Given the description of an element on the screen output the (x, y) to click on. 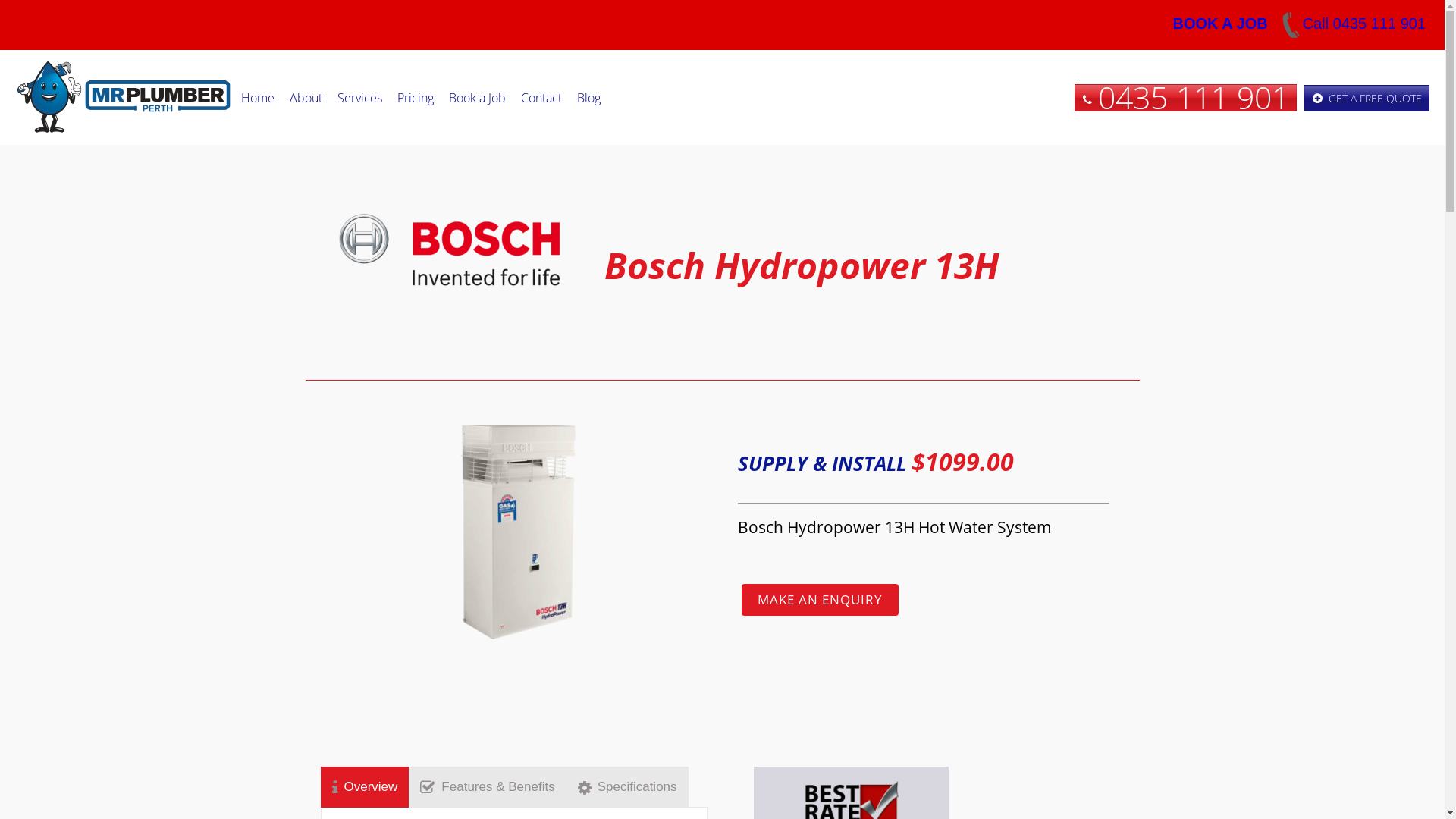
Contact Element type: text (541, 96)
BOOK A JOB Element type: text (1219, 23)
BOSCH-HYDROPOWER-13H EXTERNAL-HOT-WATER-SYSTEM Element type: hover (516, 531)
Specifications Element type: text (627, 786)
GET A FREE QUOTE Element type: text (1366, 97)
Services Element type: text (359, 96)
MAKE AN ENQUIRY Element type: text (819, 599)
Overview Element type: text (364, 786)
Features & Benefits Element type: text (486, 786)
Pricing Element type: text (415, 96)
0435 111 901 Element type: text (1185, 98)
Book a Job Element type: text (477, 96)
Blog Element type: text (588, 96)
About Element type: text (305, 96)
Call 0435 111 901 Element type: text (1350, 23)
Home Element type: text (257, 96)
